Given the description of an element on the screen output the (x, y) to click on. 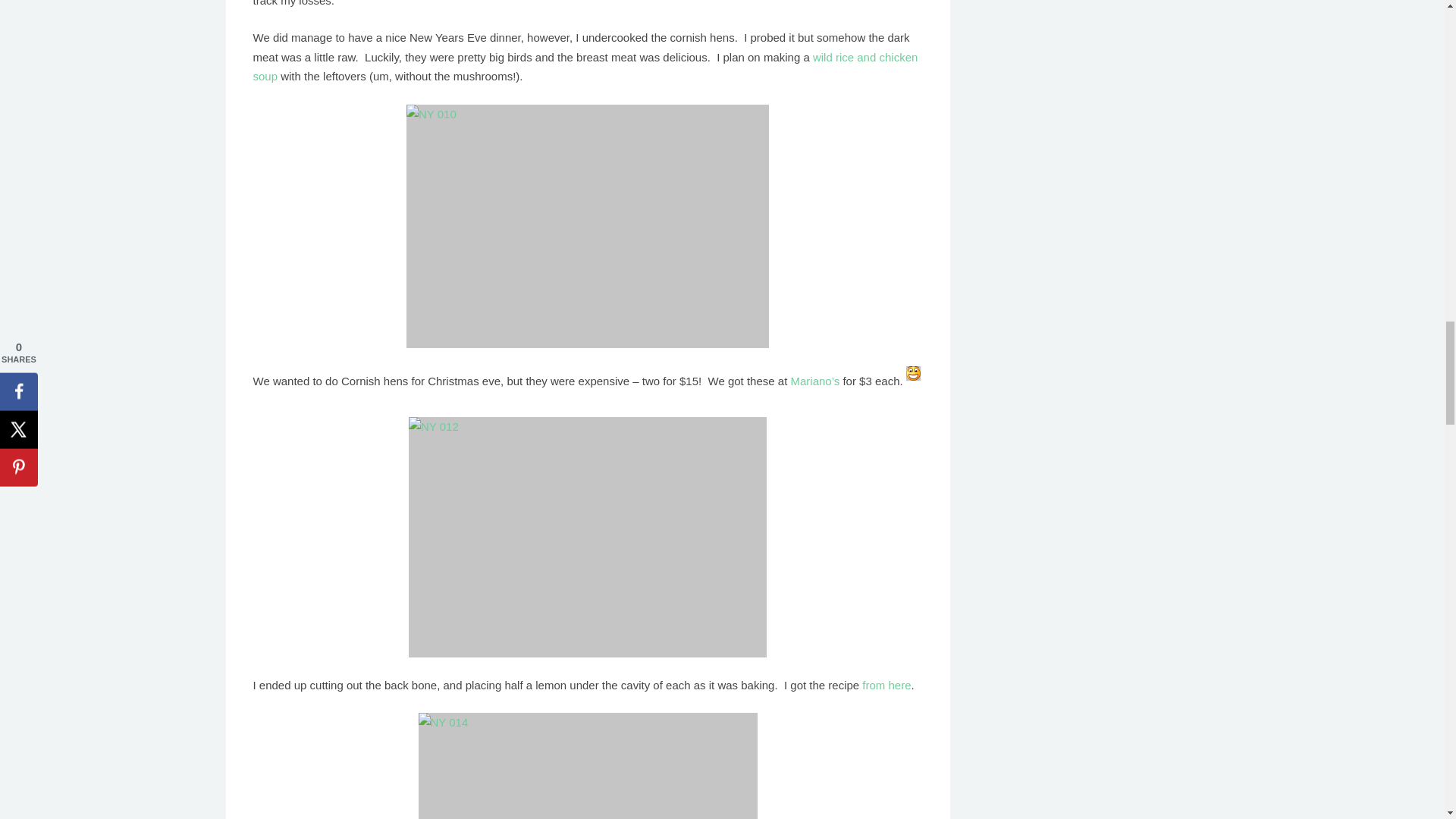
NY 012 (588, 536)
NY 014 (588, 765)
NY 010 (587, 226)
